Given the description of an element on the screen output the (x, y) to click on. 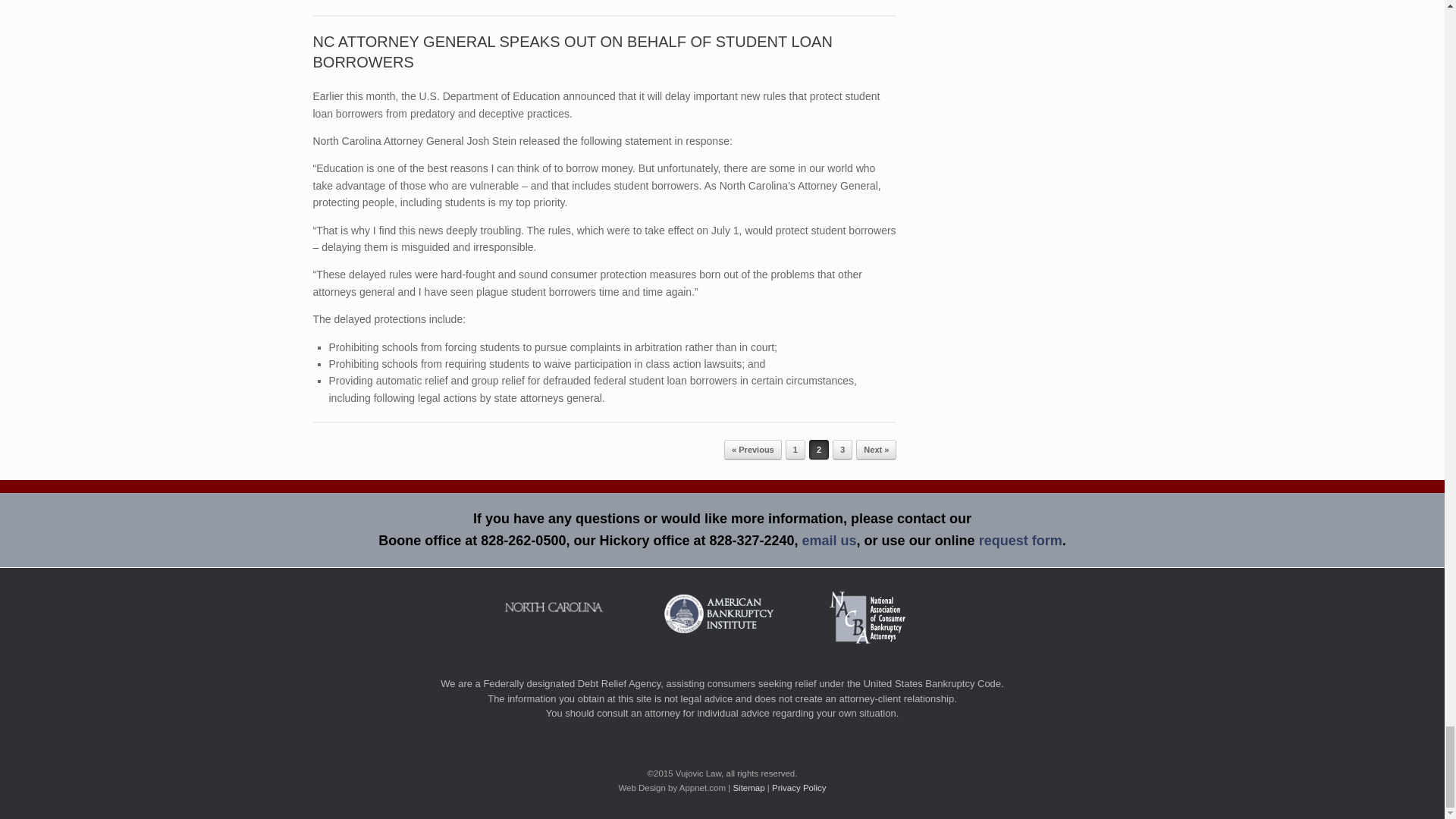
Privacy Policy (799, 787)
1 (795, 449)
request form (1020, 540)
3 (841, 449)
email us (829, 540)
Sitemap (748, 787)
